Given the description of an element on the screen output the (x, y) to click on. 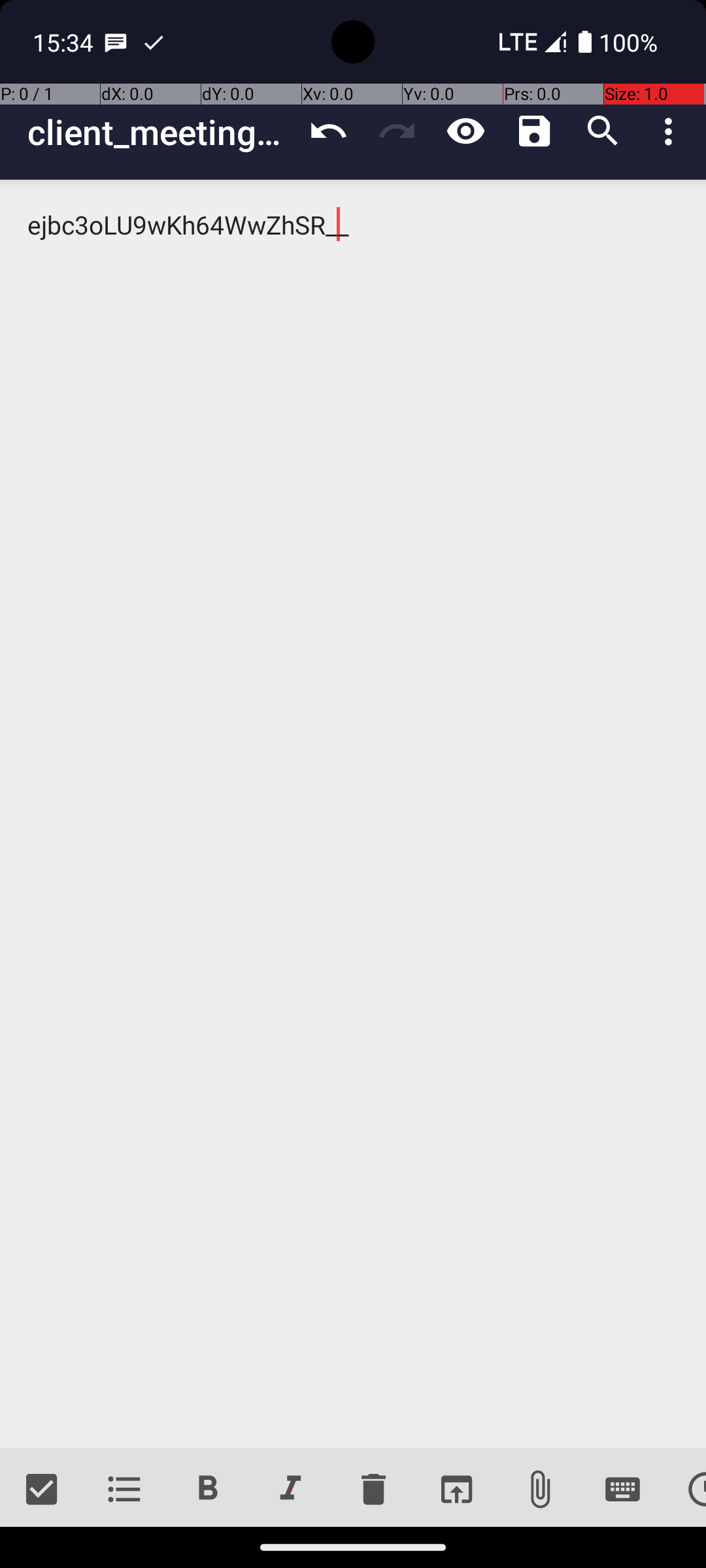
client_meetings_schedule_2023_08_13 Element type: android.widget.TextView (160, 131)
ejbc3oLU9wKh64WwZhSR__
 Element type: android.widget.EditText (353, 813)
